Given the description of an element on the screen output the (x, y) to click on. 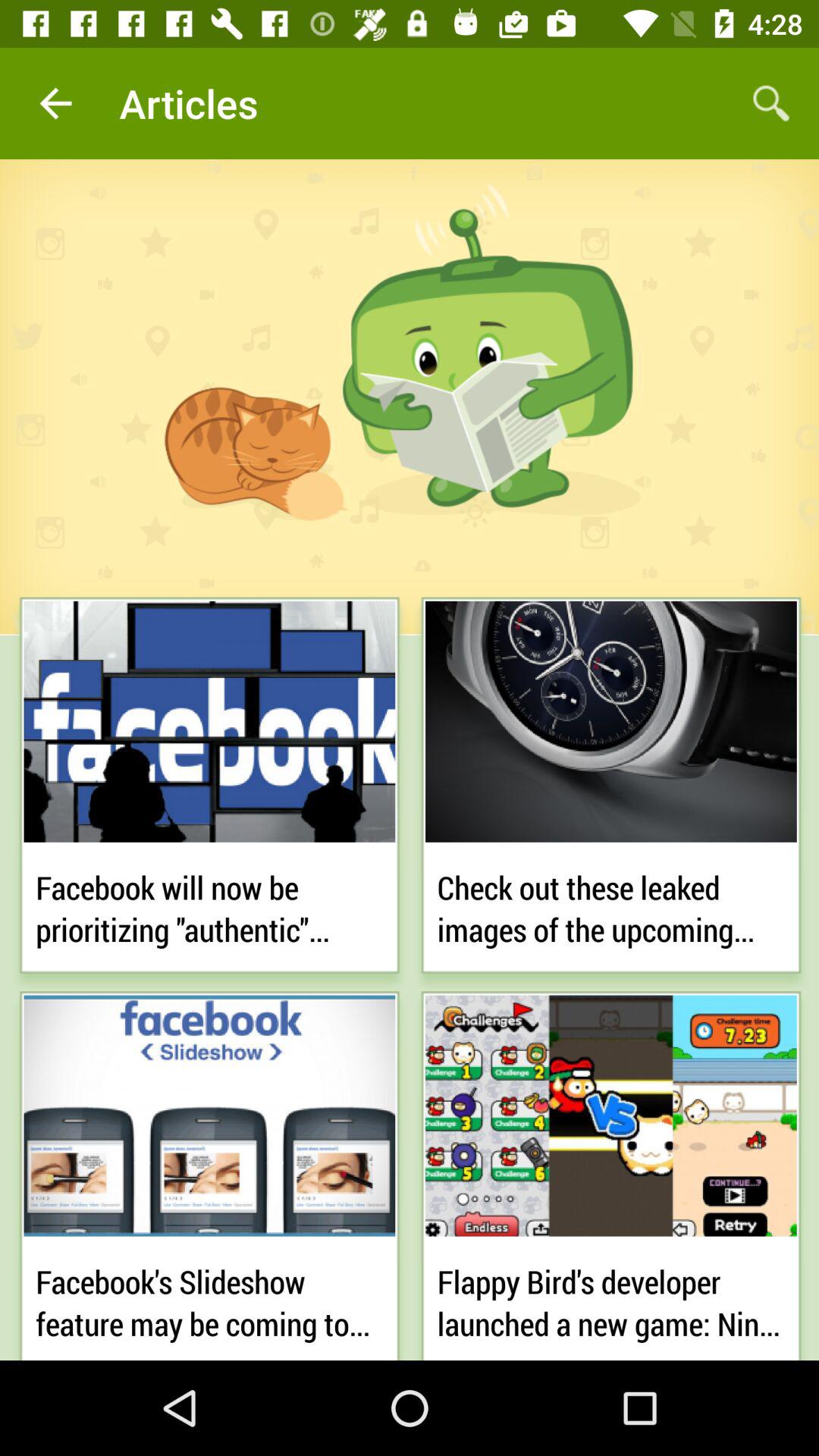
press icon next to articles icon (55, 103)
